Given the description of an element on the screen output the (x, y) to click on. 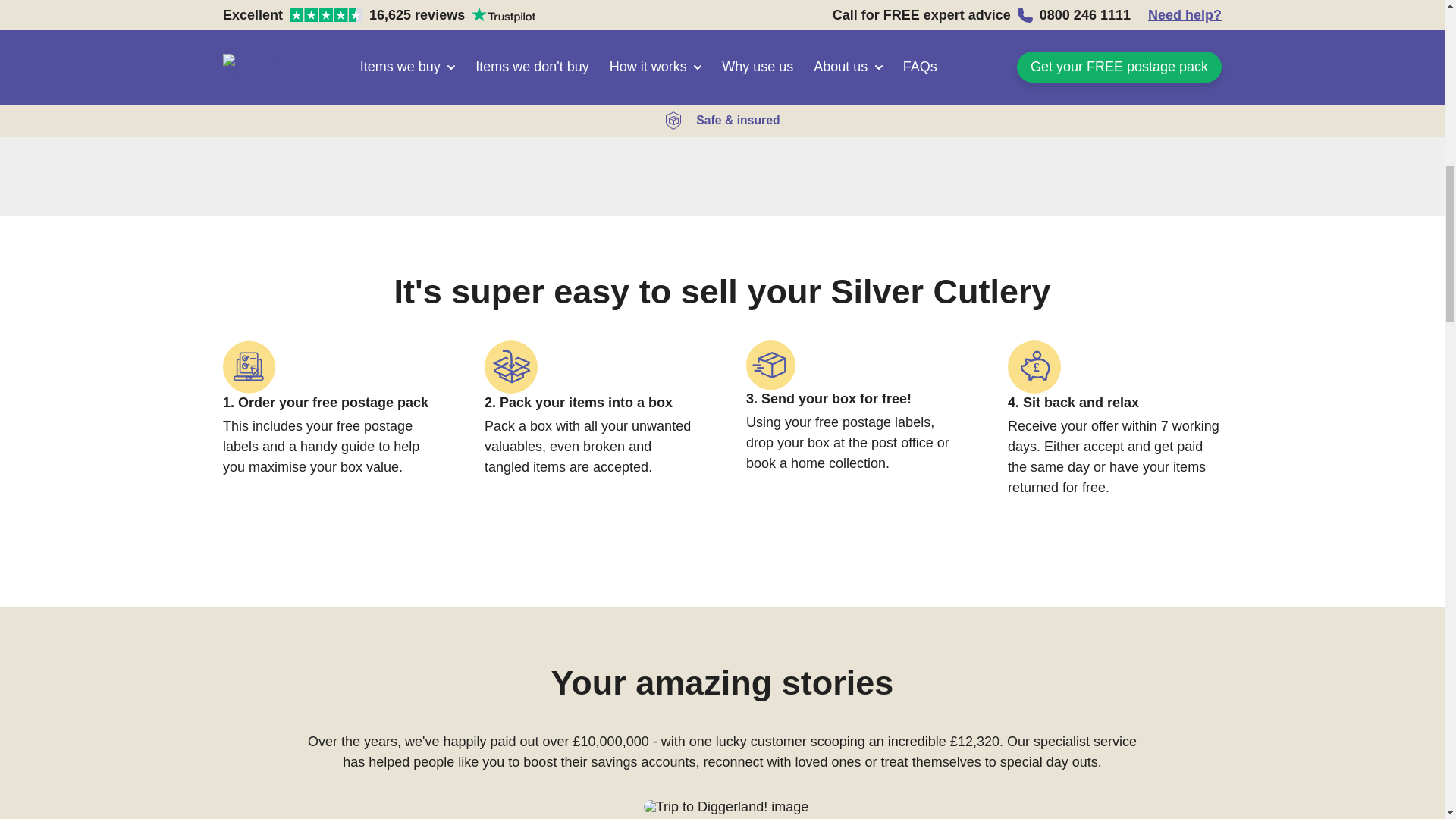
Costume jewellery (721, 106)
